Given the description of an element on the screen output the (x, y) to click on. 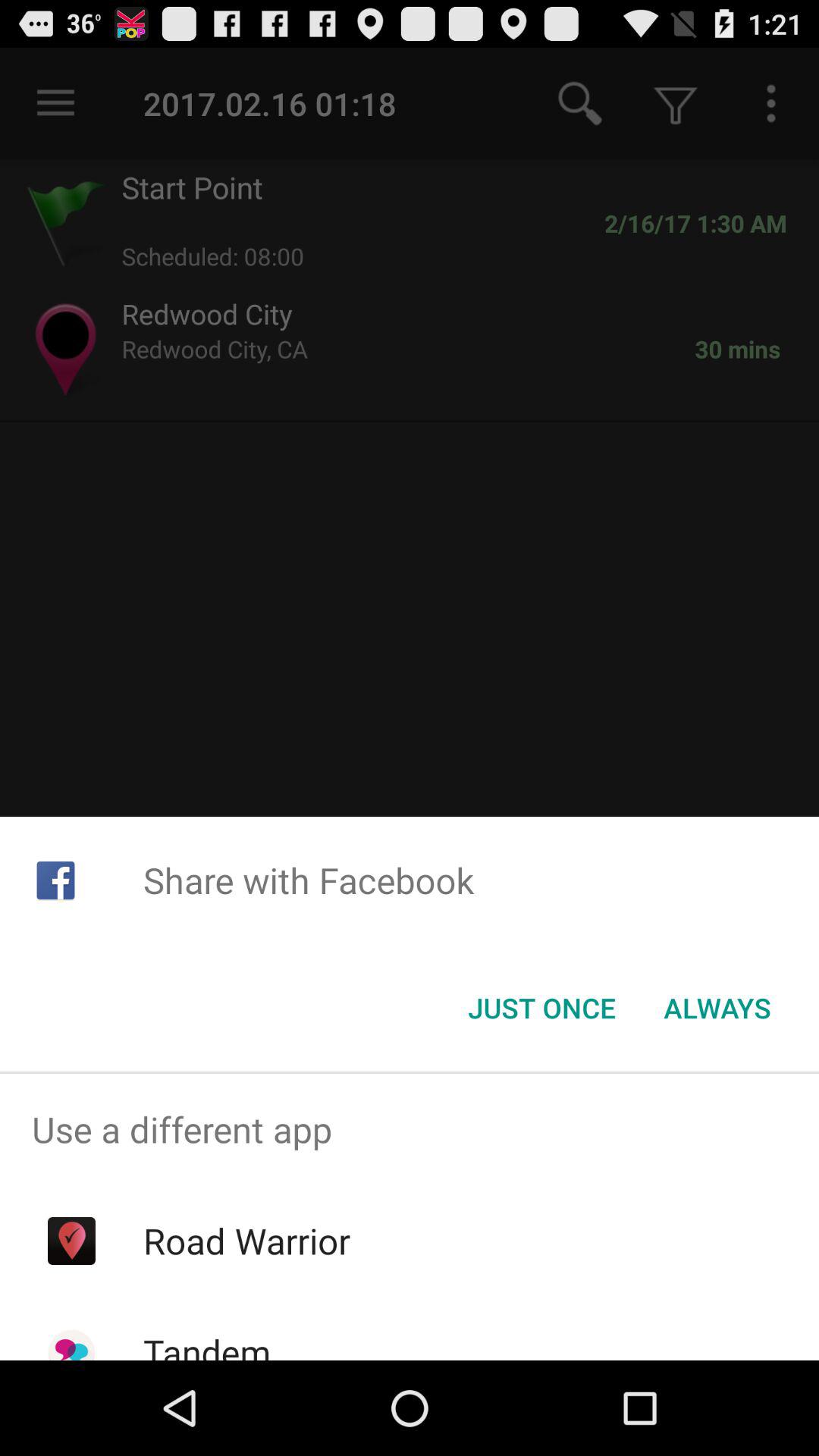
turn off the tandem icon (206, 1344)
